Given the description of an element on the screen output the (x, y) to click on. 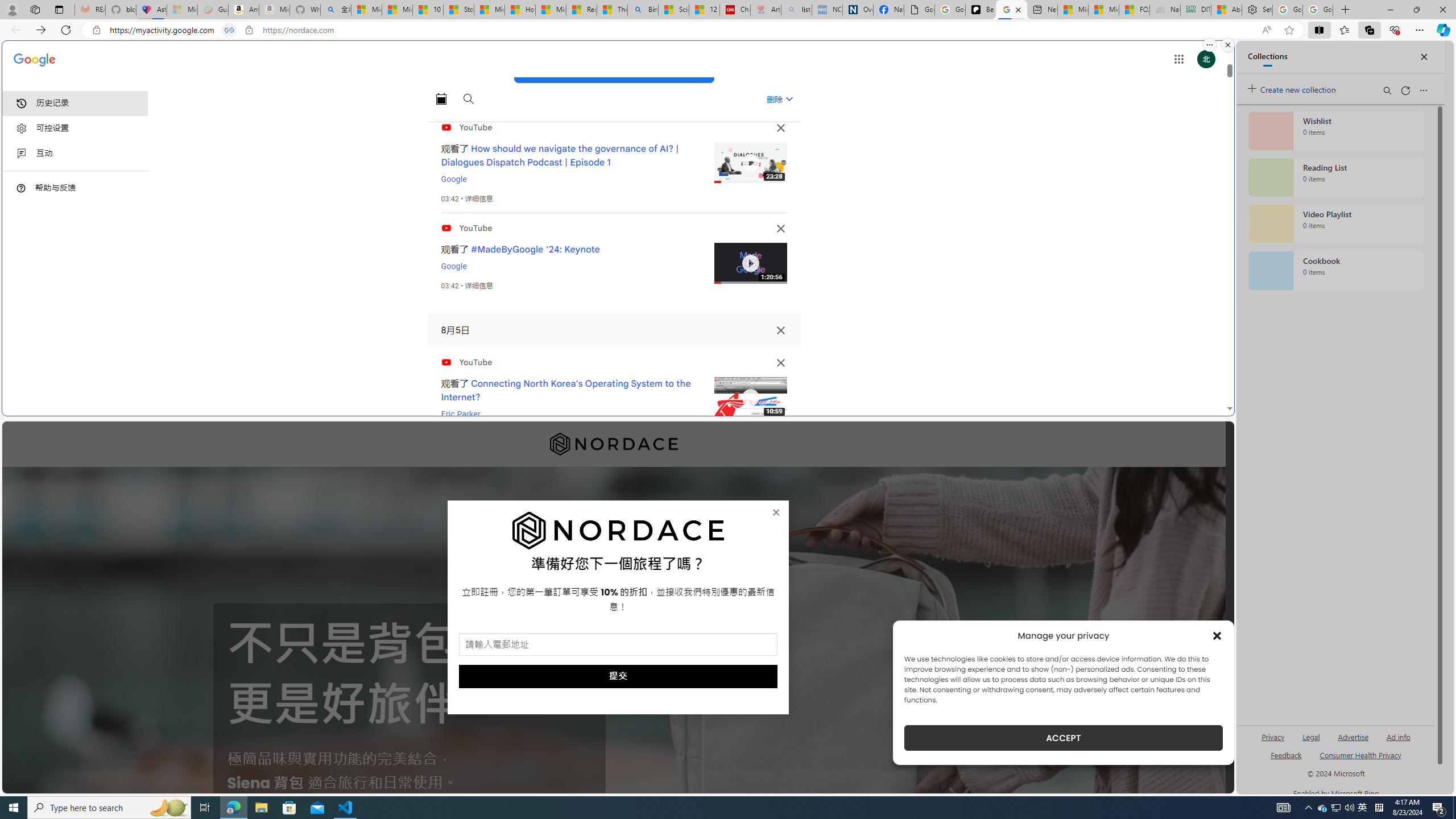
Asthma Inhalers: Names and Types (151, 9)
Class: i2GIId (21, 153)
Class: cmplz-close (1217, 635)
To get missing image descriptions, open the context menu. (617, 530)
Class: TjcpUd NMm5M (780, 362)
More options. (1209, 45)
